Given the description of an element on the screen output the (x, y) to click on. 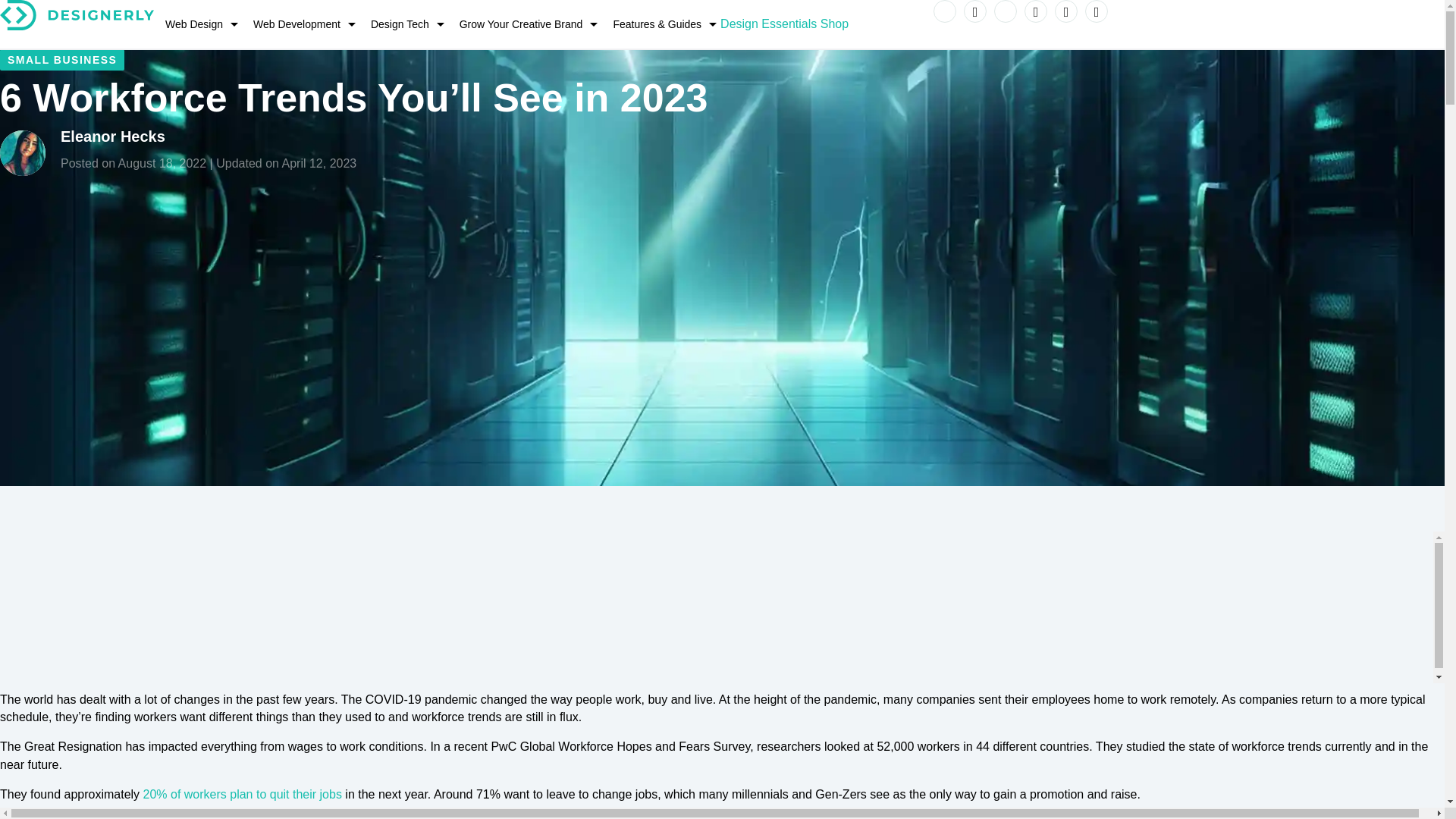
Design Essentials Shop (784, 24)
Design Tech (403, 24)
SMALL BUSINESS (61, 59)
Eleanor Hecks (113, 135)
Web Development (300, 24)
Grow Your Creative Brand (525, 24)
Web Design (197, 24)
